Given the description of an element on the screen output the (x, y) to click on. 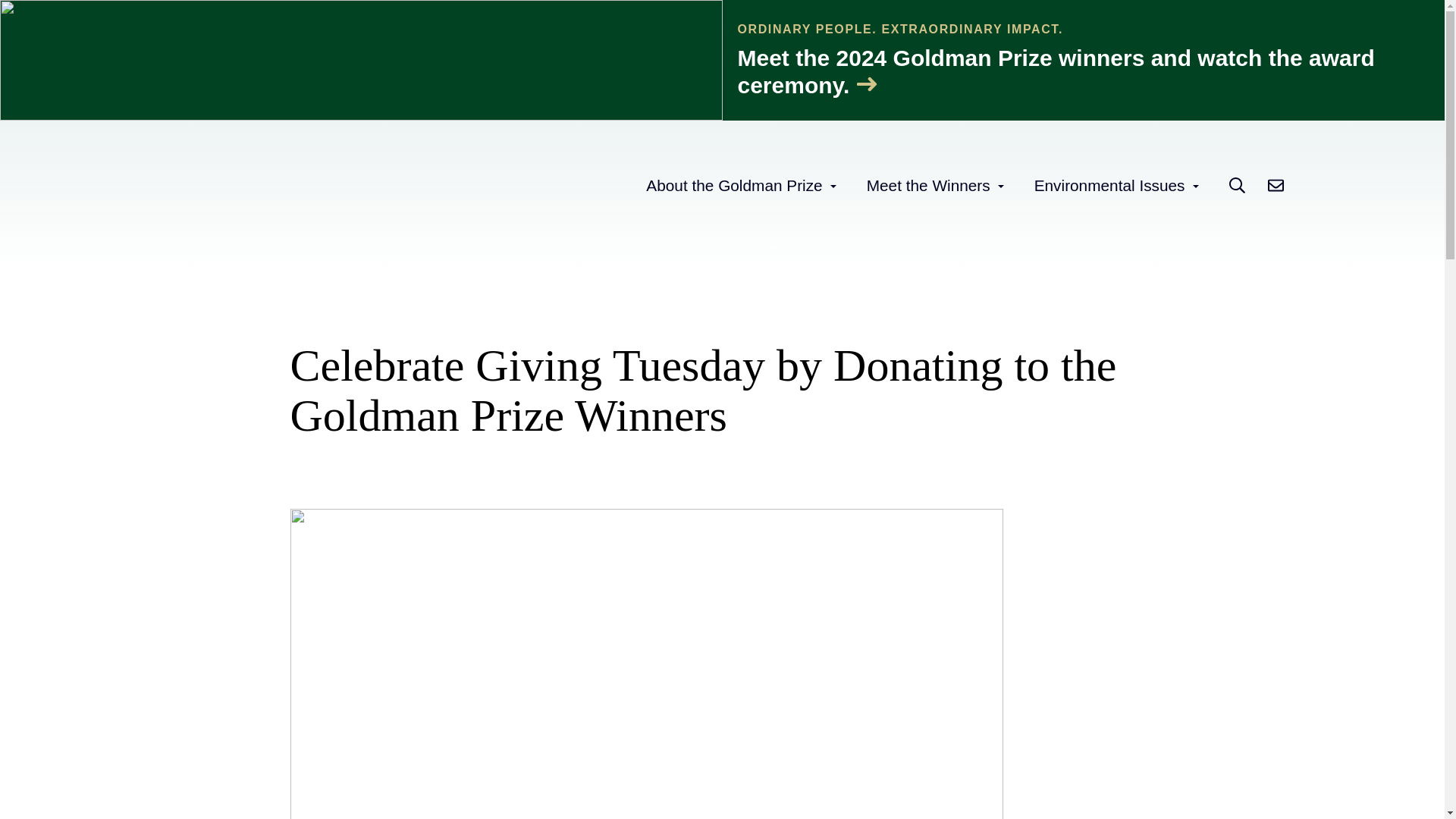
Meet the Winners (928, 185)
Environmental Issues (1109, 185)
About the Goldman Prize (734, 185)
